Given the description of an element on the screen output the (x, y) to click on. 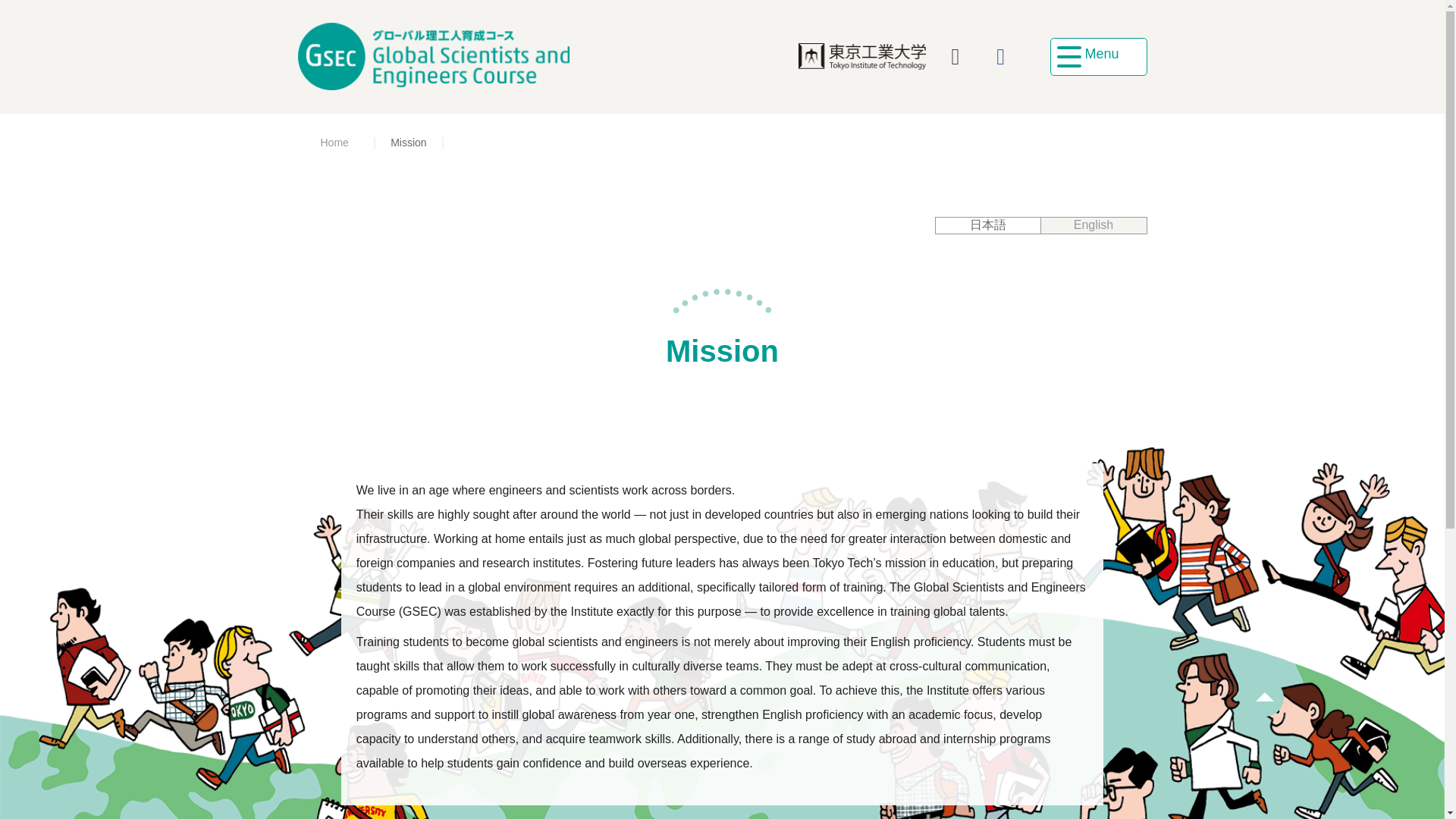
Home (335, 143)
English (1093, 225)
